Given the description of an element on the screen output the (x, y) to click on. 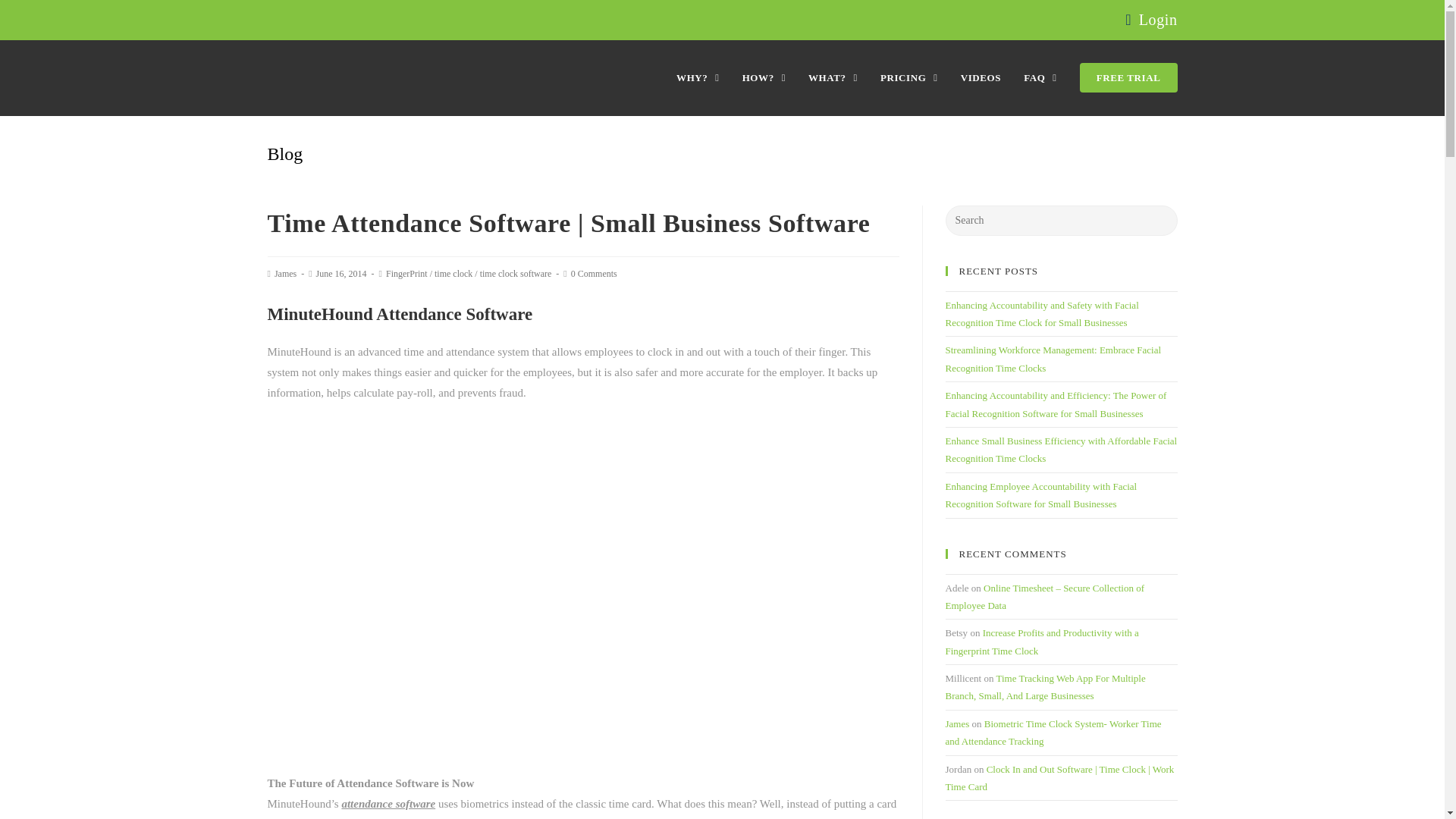
WHAT? (832, 78)
Posts by James (286, 273)
James (286, 273)
Login (1157, 19)
FREE TRIAL (1128, 78)
FingerPrint (406, 273)
PRICING (909, 78)
time clock (452, 273)
time clock software (515, 273)
0 Comments (593, 273)
